Given the description of an element on the screen output the (x, y) to click on. 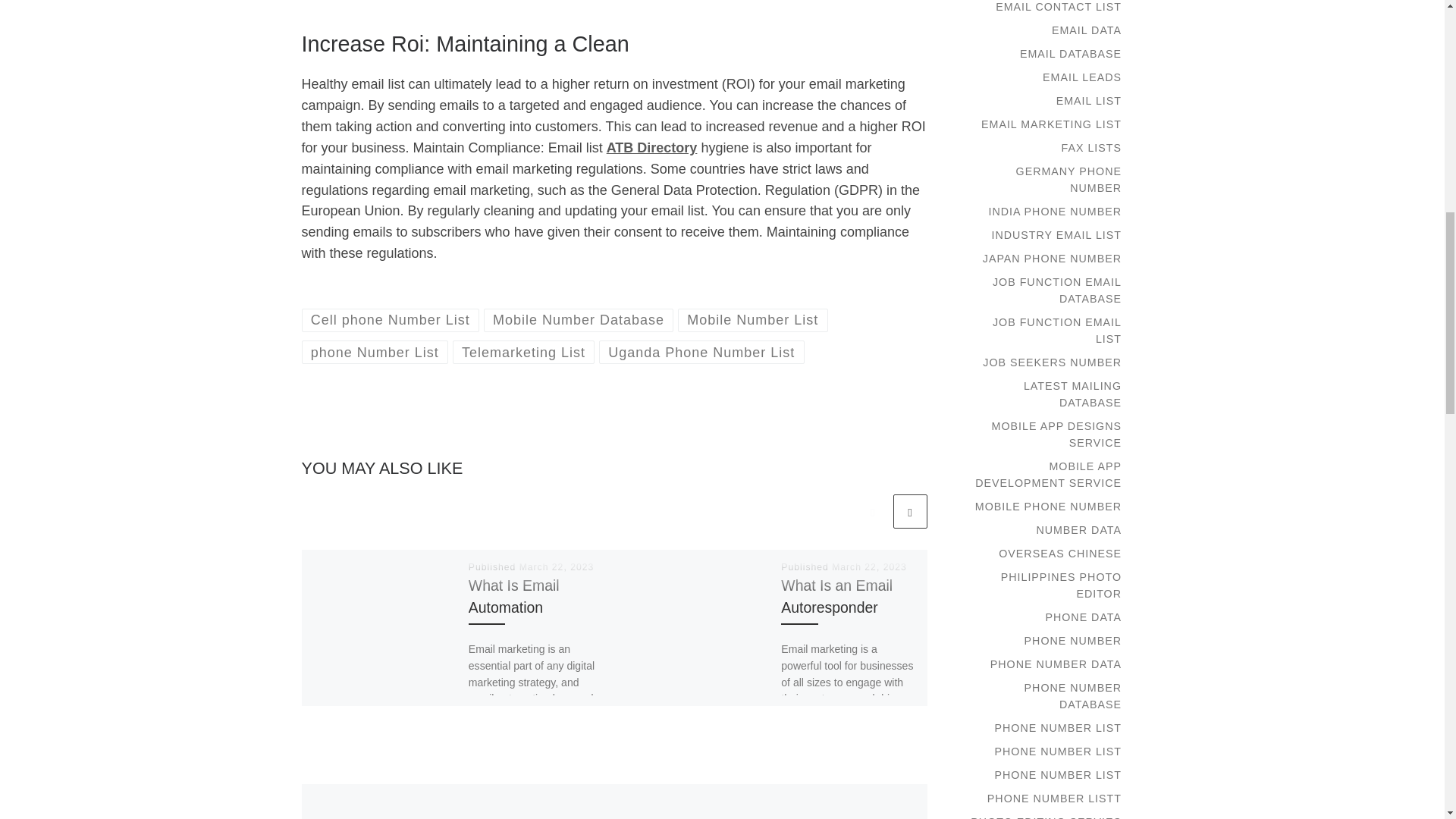
Previous related articles (872, 511)
Mobile Number List (753, 320)
Next related articles (910, 511)
View all posts in Cell phone Number List (390, 320)
Cell phone Number List (390, 320)
View all posts in Mobile Number Database (578, 320)
View all posts in phone Number List (374, 351)
Mobile Number Database (578, 320)
What Is an Email Autoresponder (836, 596)
Uganda Phone Number List (701, 351)
Telemarketing List (523, 351)
March 22, 2023 (869, 566)
View all posts in Mobile Number List (753, 320)
View all posts in Uganda Phone Number List (701, 351)
ATB Directory (652, 147)
